Given the description of an element on the screen output the (x, y) to click on. 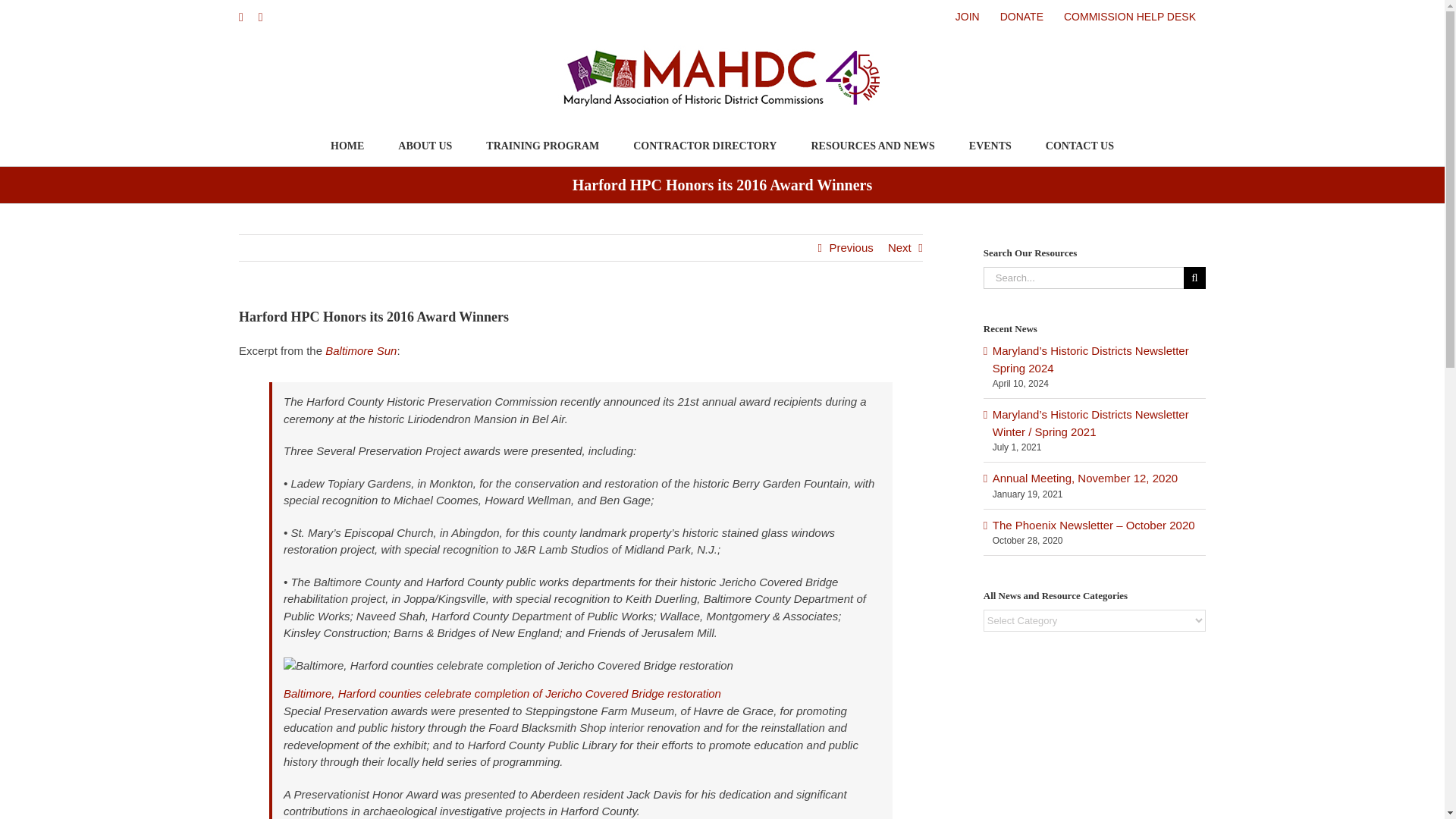
ABOUT US (424, 145)
CONTACT US (1079, 145)
Previous (850, 248)
RESOURCES AND NEWS (872, 145)
DONATE (1021, 16)
COMMISSION HELP DESK (1129, 16)
TRAINING PROGRAM (542, 145)
Baltimore Sun (360, 350)
